Given the description of an element on the screen output the (x, y) to click on. 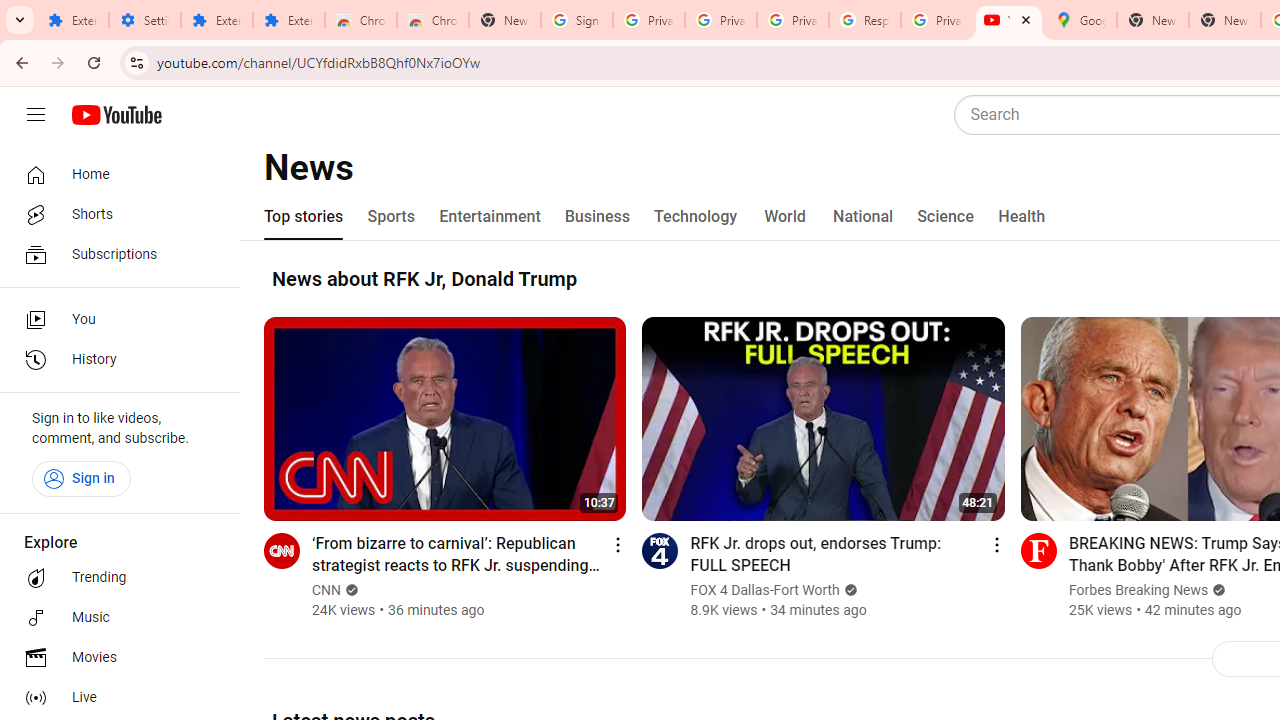
Chrome Web Store - Themes (432, 20)
Live (113, 697)
Movies (113, 657)
Health (1021, 216)
Shorts (113, 214)
Sign in - Google Accounts (577, 20)
